Given the description of an element on the screen output the (x, y) to click on. 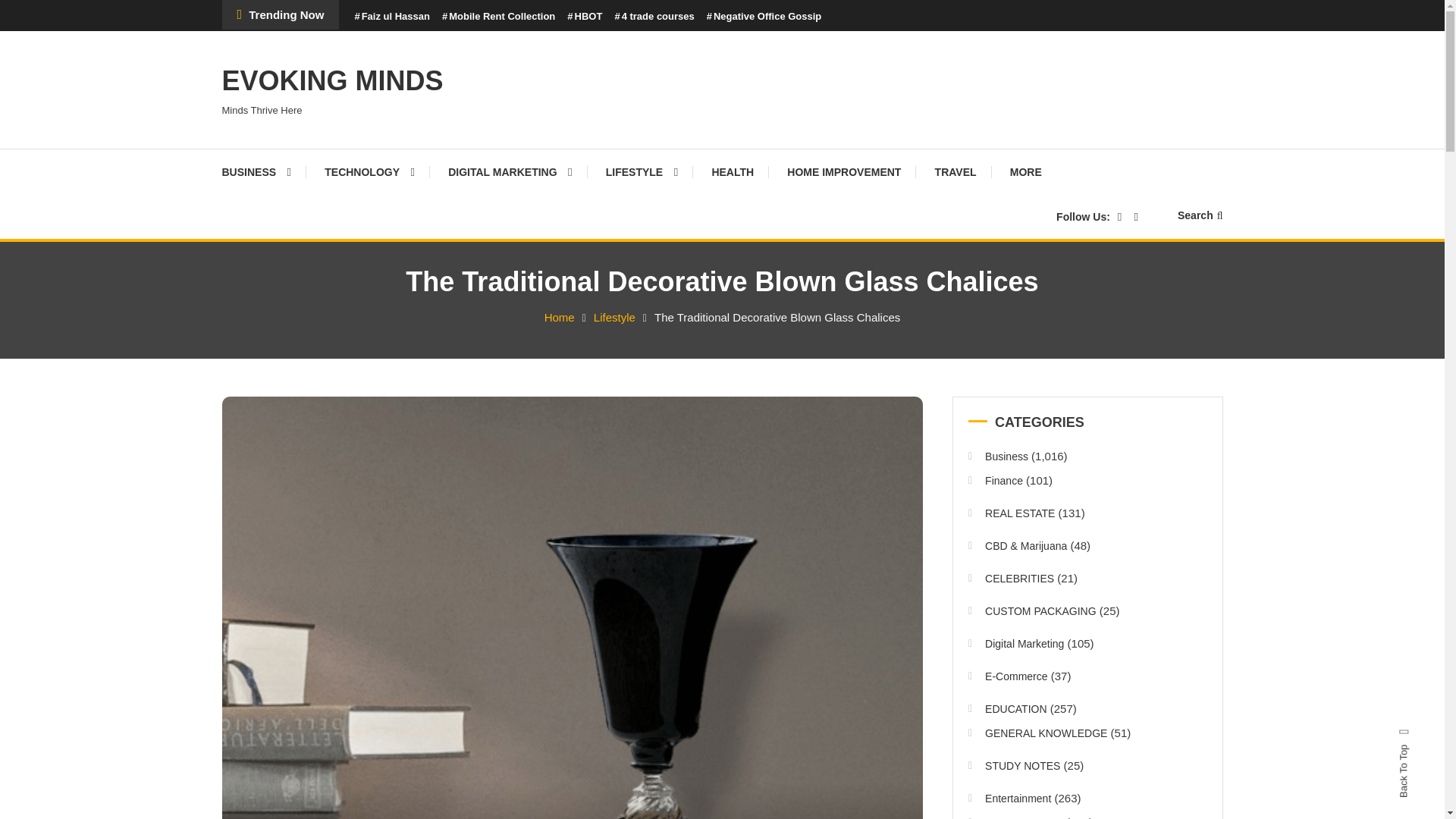
EVOKING MINDS (331, 80)
Faiz ul Hassan (391, 16)
BUSINESS (263, 171)
Mobile Rent Collection (498, 16)
LIFESTYLE (642, 171)
MORE (1025, 171)
DIGITAL MARKETING (509, 171)
HEALTH (731, 171)
Negative Office Gossip (764, 16)
Home (559, 317)
Lifestyle (614, 317)
4 trade courses (654, 16)
Search (768, 432)
Search (1200, 215)
HOME IMPROVEMENT (843, 171)
